Given the description of an element on the screen output the (x, y) to click on. 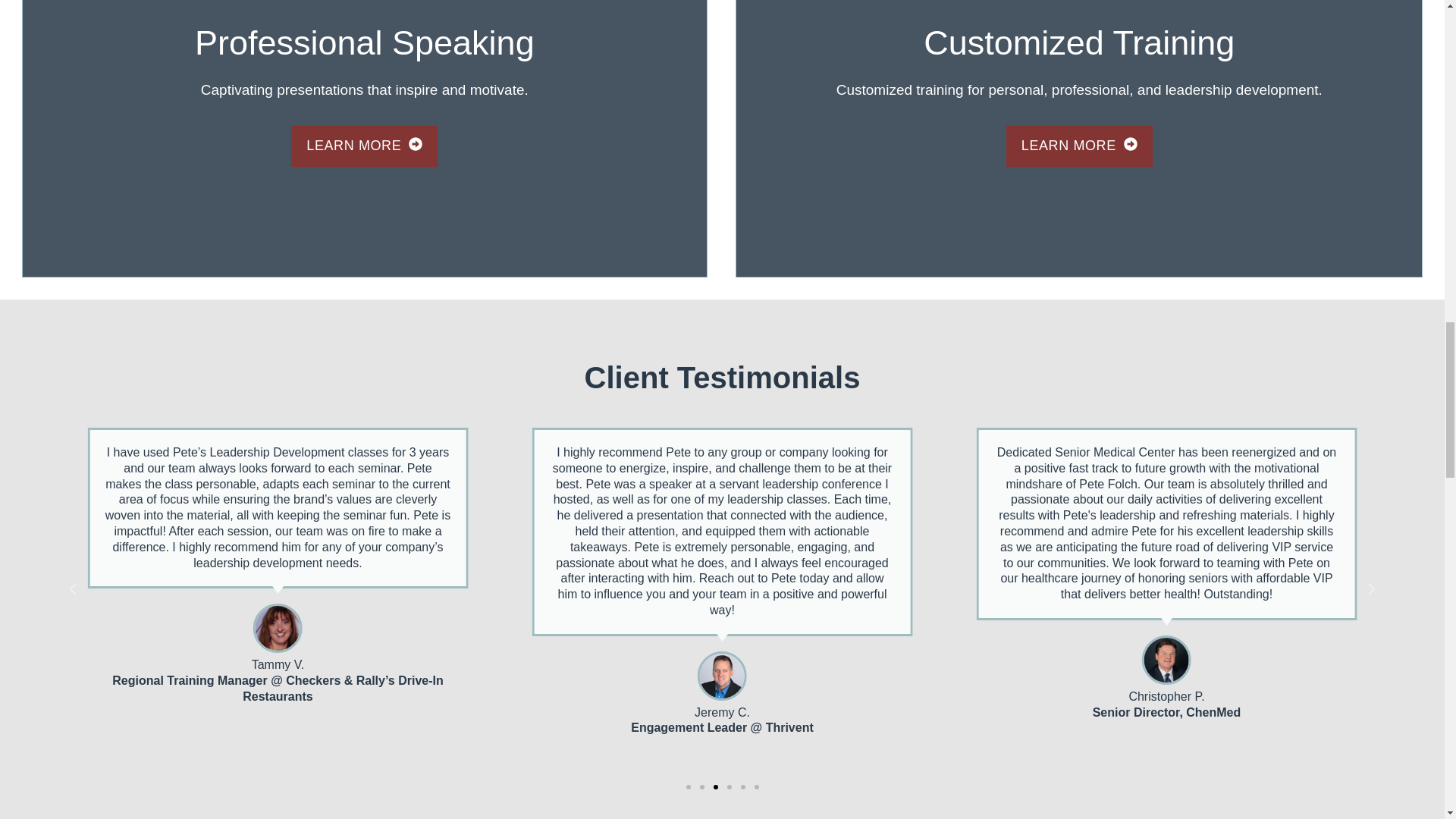
LEARN MORE (1079, 146)
LEARN MORE (364, 146)
